Given the description of an element on the screen output the (x, y) to click on. 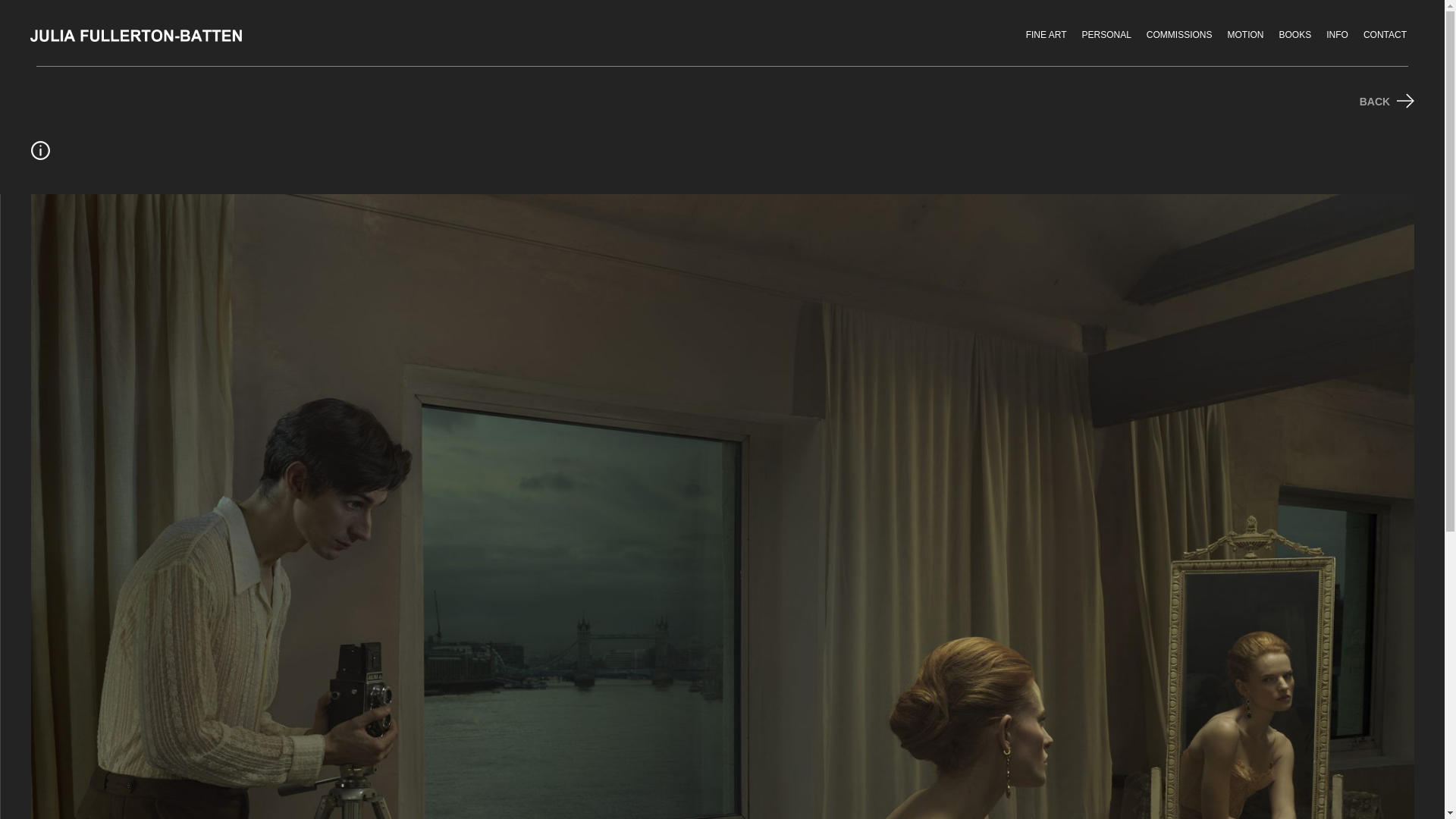
COMMISSIONS (1179, 34)
INFO (1337, 34)
PERSONAL (1106, 34)
MOTION (1245, 34)
FINE ART (1045, 34)
CONTACT (1384, 34)
BACK (1386, 101)
BOOKS (1295, 34)
